Given the description of an element on the screen output the (x, y) to click on. 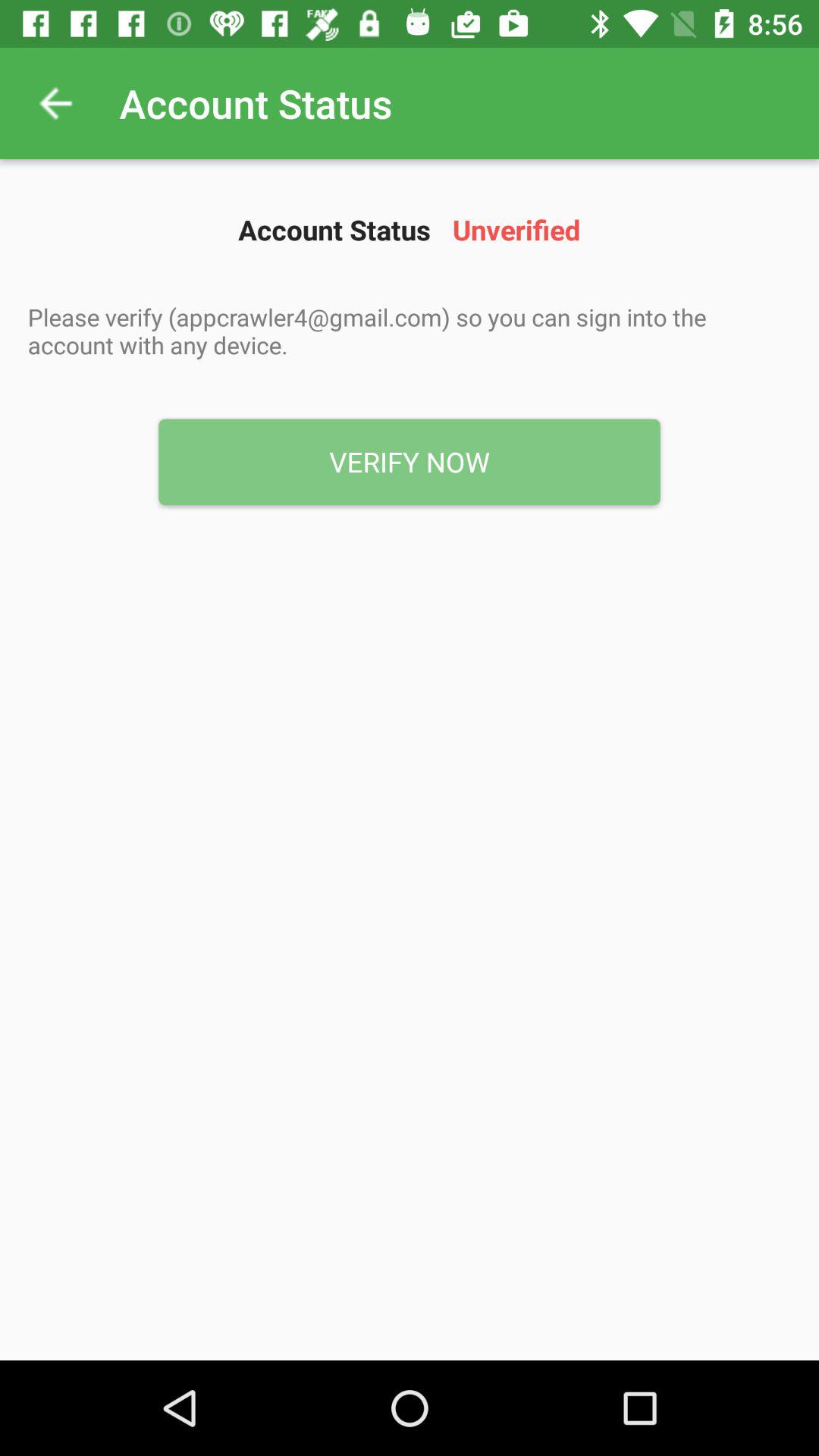
turn off icon to the left of the account status app (55, 103)
